Given the description of an element on the screen output the (x, y) to click on. 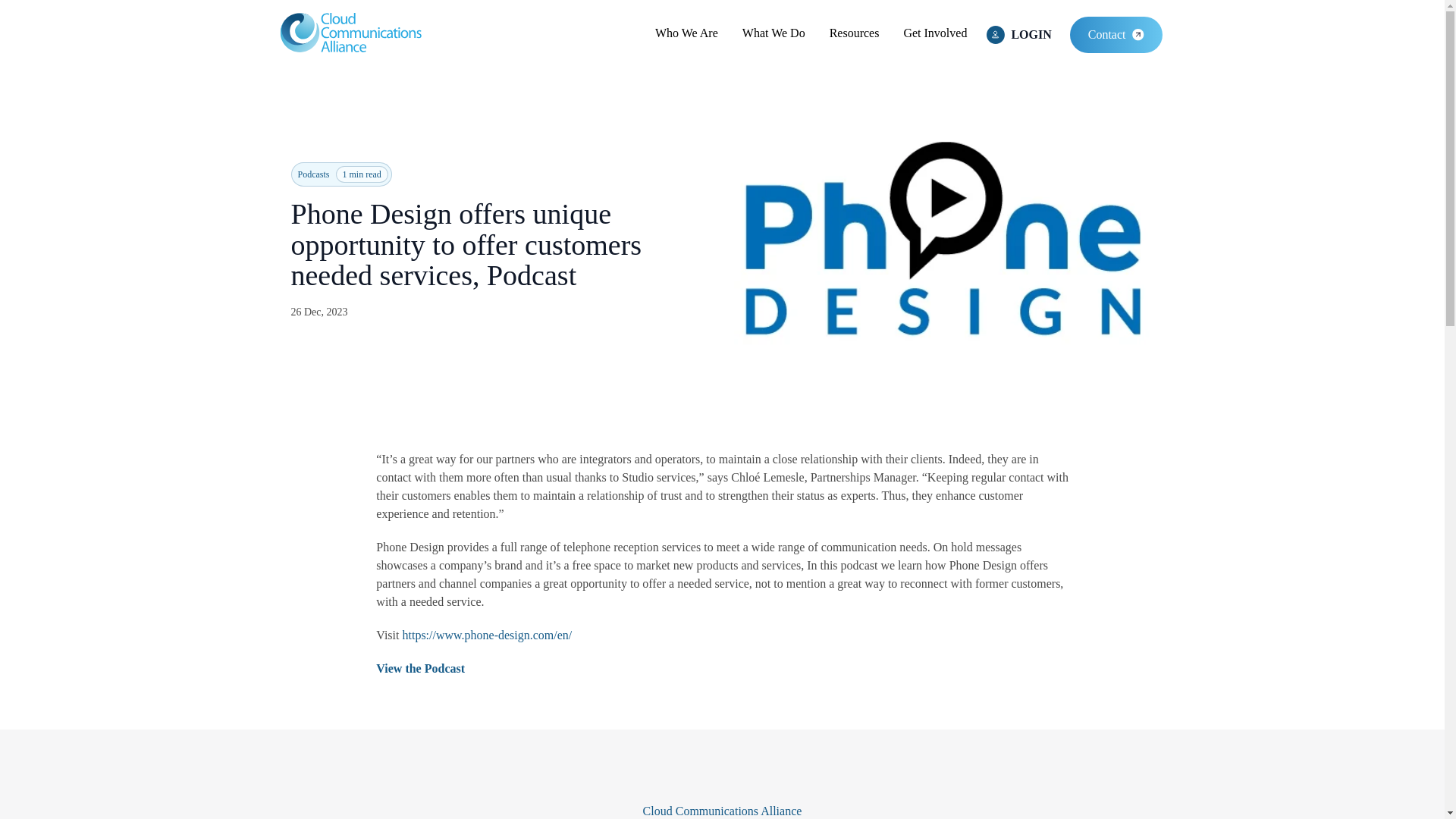
Resources (854, 32)
LOGIN (1019, 34)
Contact (1115, 34)
cca-logo (349, 32)
Who We Are (686, 32)
What We Do (773, 32)
View the Podcast (419, 667)
Get Involved (934, 32)
